Given the description of an element on the screen output the (x, y) to click on. 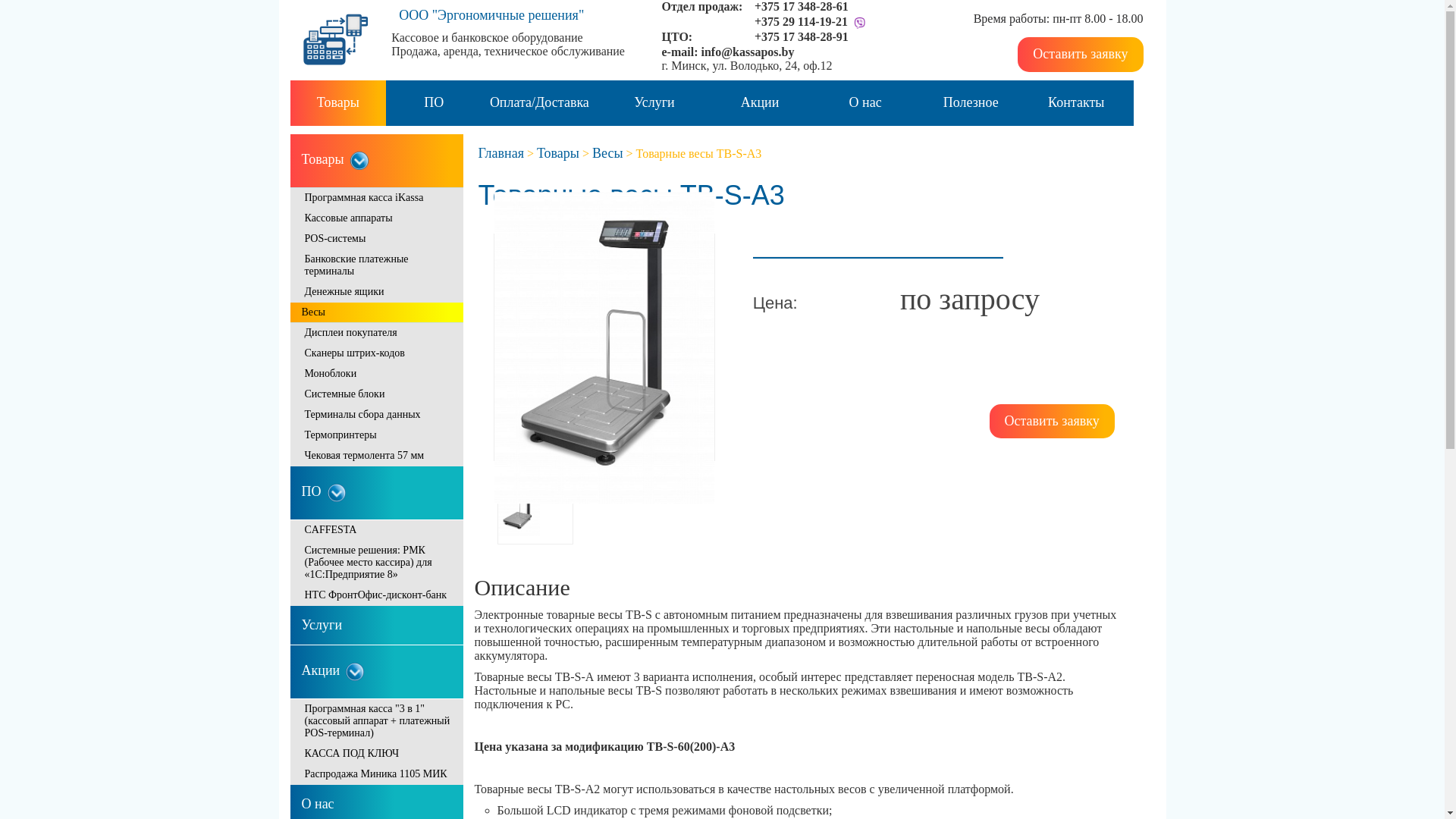
+375 17 348-28-61 Element type: text (801, 6)
+375 29 114-19-21 Element type: text (800, 21)
+375 17 348-28-91 Element type: text (801, 36)
CAFFESTA Element type: text (375, 530)
